Given the description of an element on the screen output the (x, y) to click on. 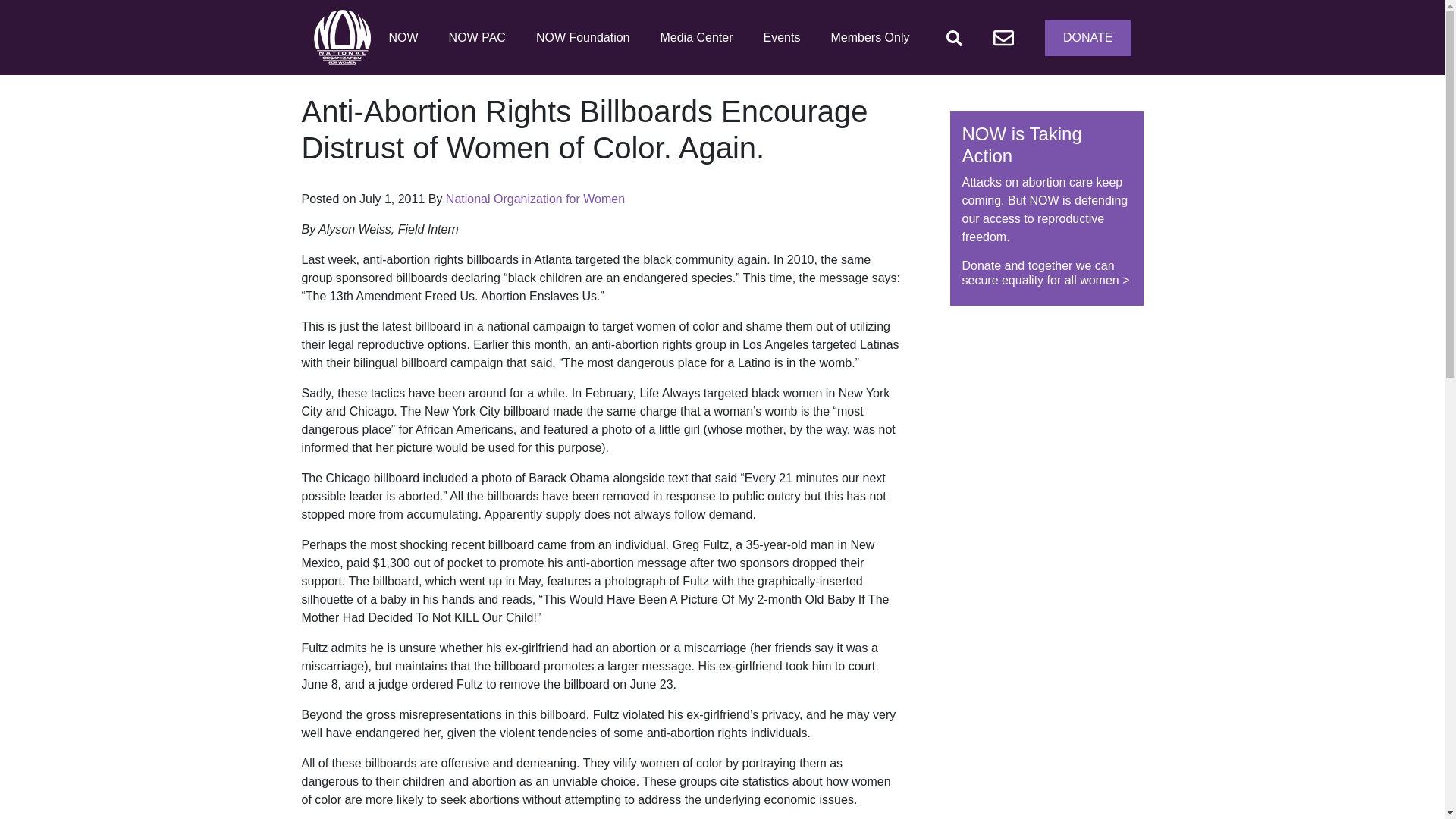
National Organization for Women (534, 198)
Media Center (695, 37)
NOW Foundation (582, 37)
NOW PAC (477, 37)
NOW PAC (477, 37)
DONATE (1088, 37)
Members Only (869, 37)
NOW (402, 37)
Events (781, 37)
NOW Foundation (582, 37)
NOW (402, 37)
